Given the description of an element on the screen output the (x, y) to click on. 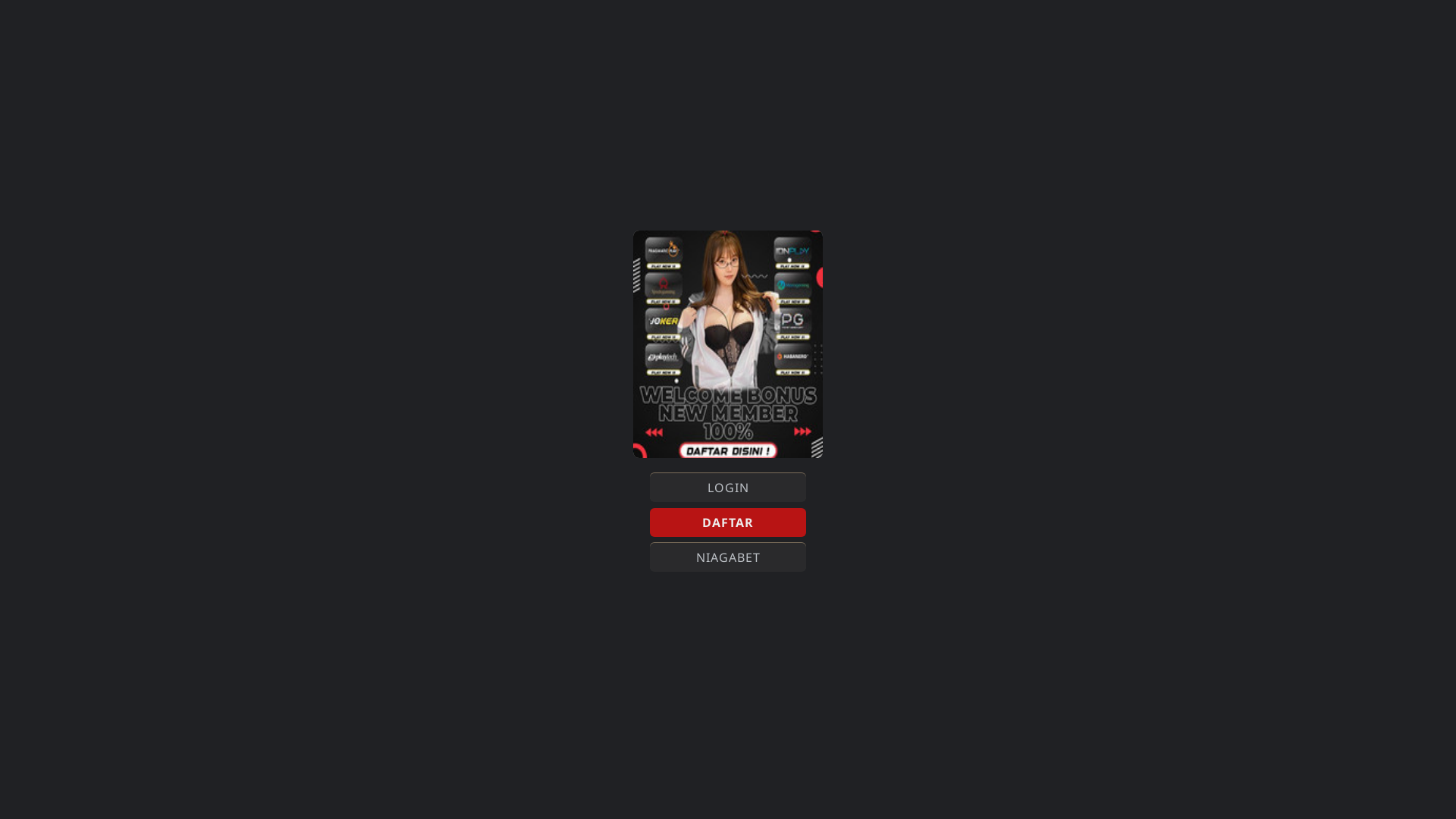
DAFTAR Element type: text (727, 522)
LOGIN Element type: text (727, 487)
NIAGABET Element type: text (727, 556)
